Given the description of an element on the screen output the (x, y) to click on. 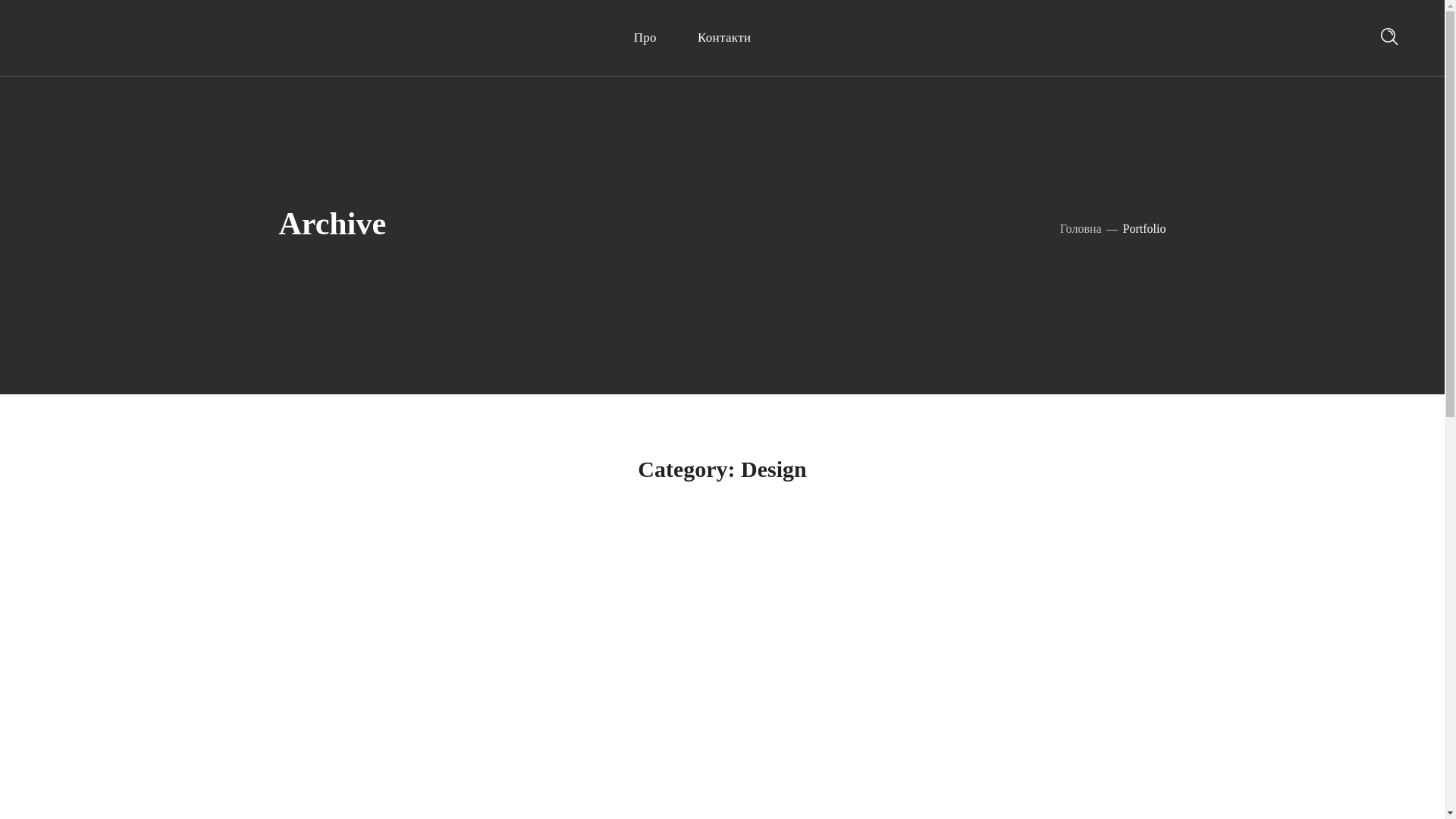
Search Element type: text (1344, 43)
Search Element type: text (1344, 119)
